Given the description of an element on the screen output the (x, y) to click on. 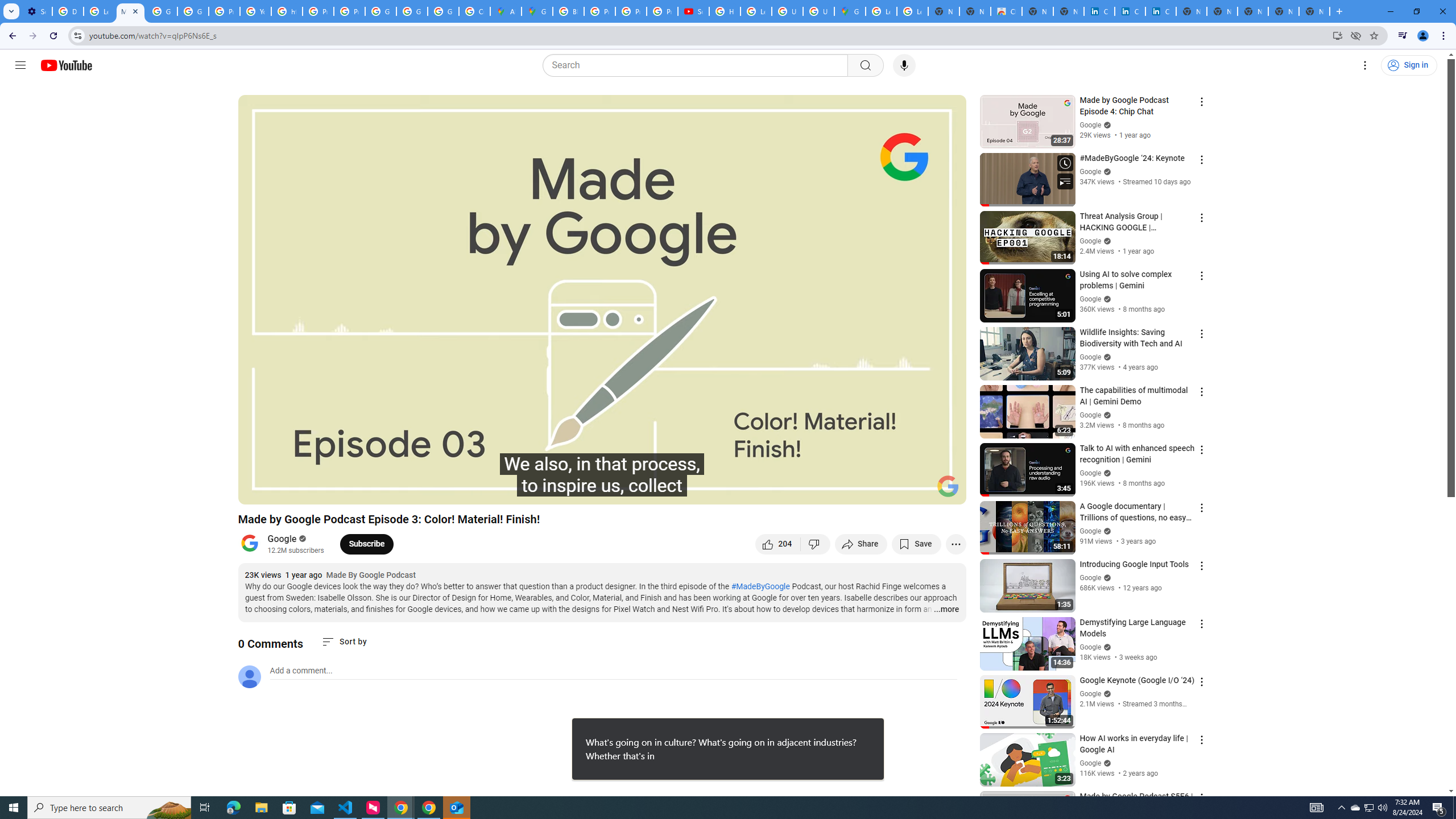
Theater mode (t) (917, 490)
YouTube (255, 11)
Action menu (1200, 798)
Autoplay is on (808, 490)
Delete photos & videos - Computer - Google Photos Help (67, 11)
Settings - Customize profile (36, 11)
Privacy Help Center - Policies Help (599, 11)
Made By Google Podcast (371, 575)
Subscriptions - YouTube (693, 11)
Privacy Help Center - Policies Help (318, 11)
Subtitles/closed captions unavailable (836, 490)
